Given the description of an element on the screen output the (x, y) to click on. 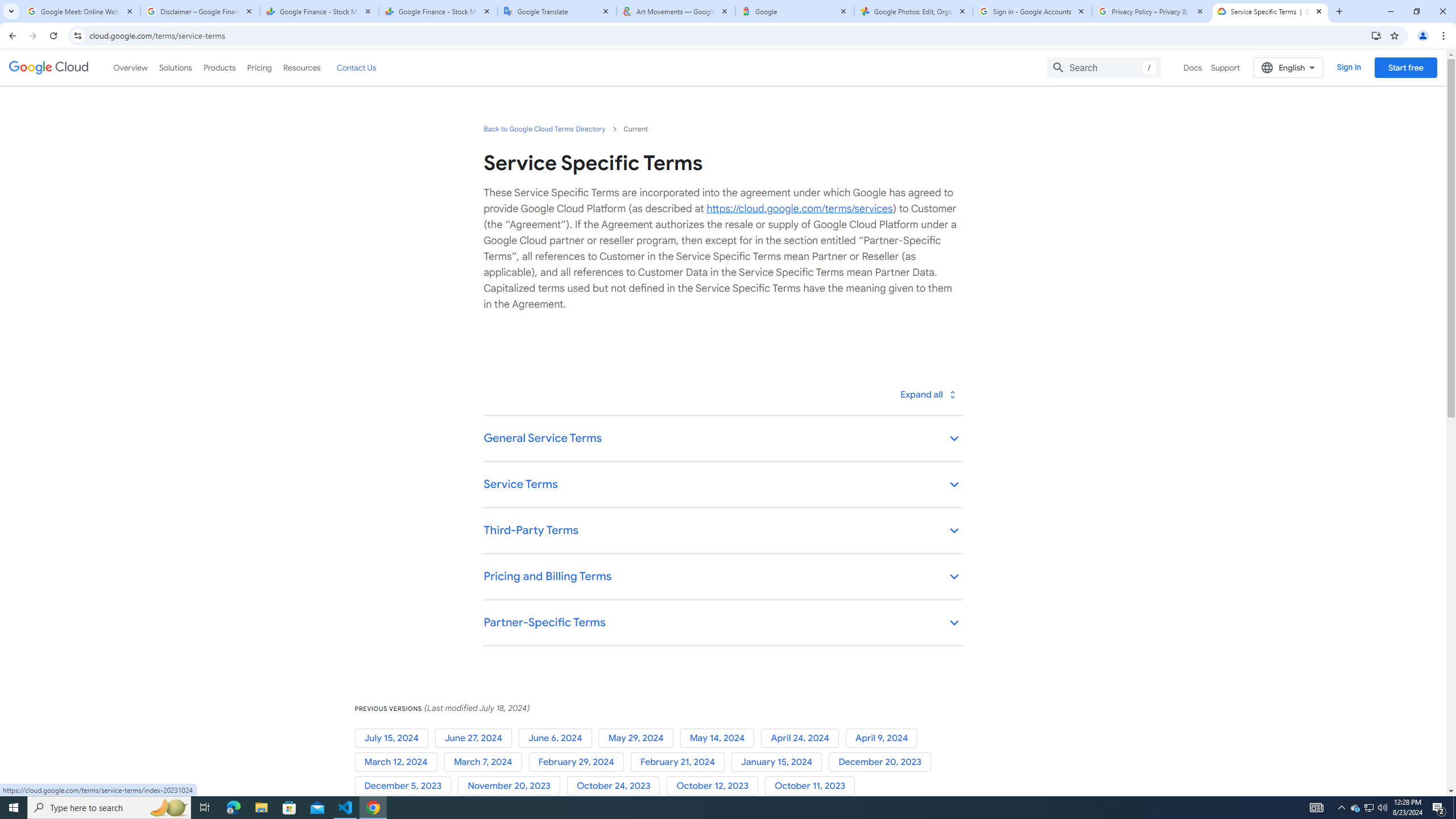
April 24, 2024 (803, 737)
February 21, 2024 (680, 761)
Google (794, 11)
Pricing and Billing Terms keyboard_arrow_down (722, 577)
